Given the description of an element on the screen output the (x, y) to click on. 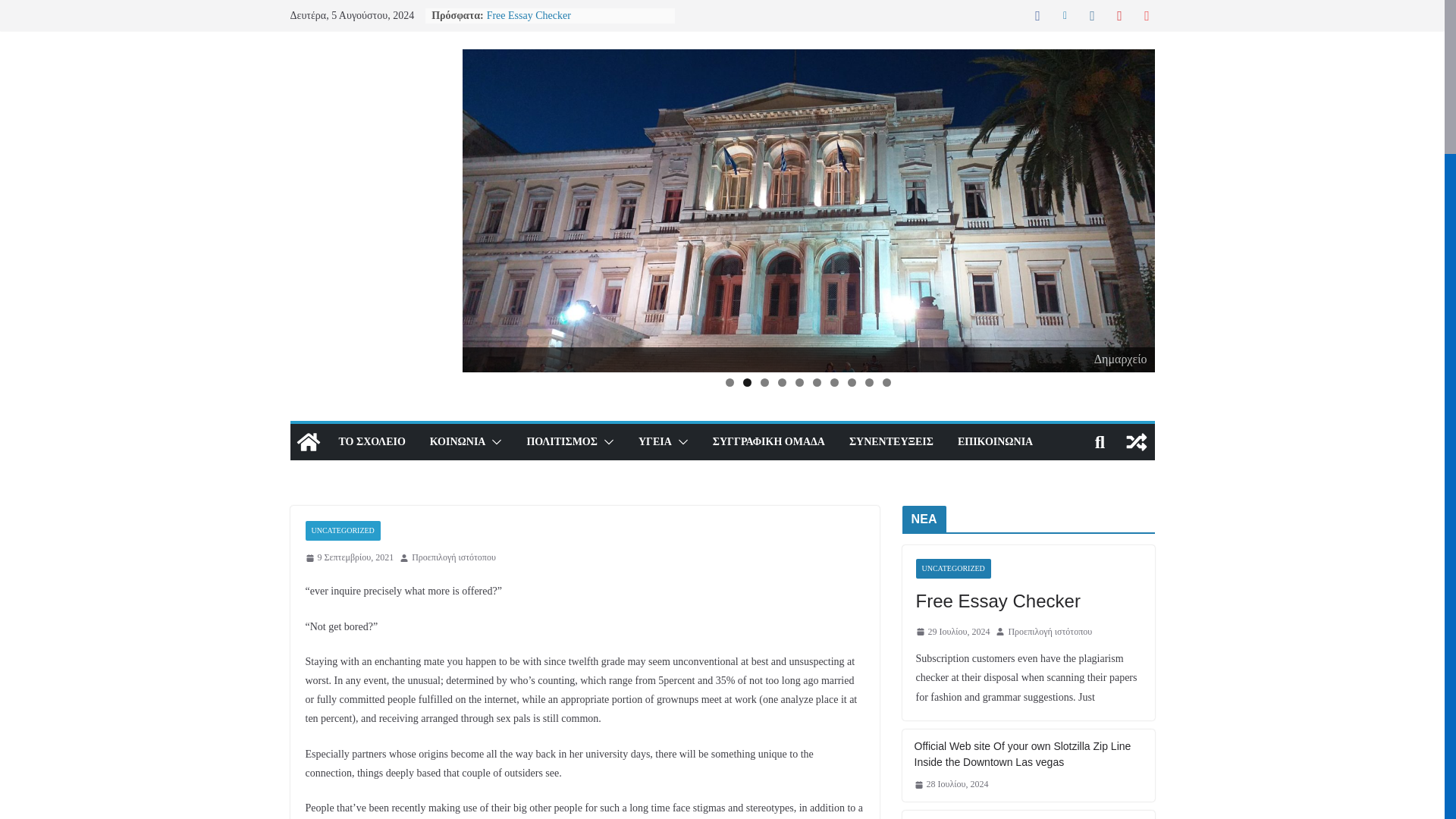
Free Essay Checker (528, 15)
8 (851, 382)
5 (798, 382)
3 (764, 382)
1 (729, 382)
Free Essay Checker (528, 15)
2 (746, 382)
4 (781, 382)
10 (886, 382)
7 (833, 382)
9 (868, 382)
6 (816, 382)
